Given the description of an element on the screen output the (x, y) to click on. 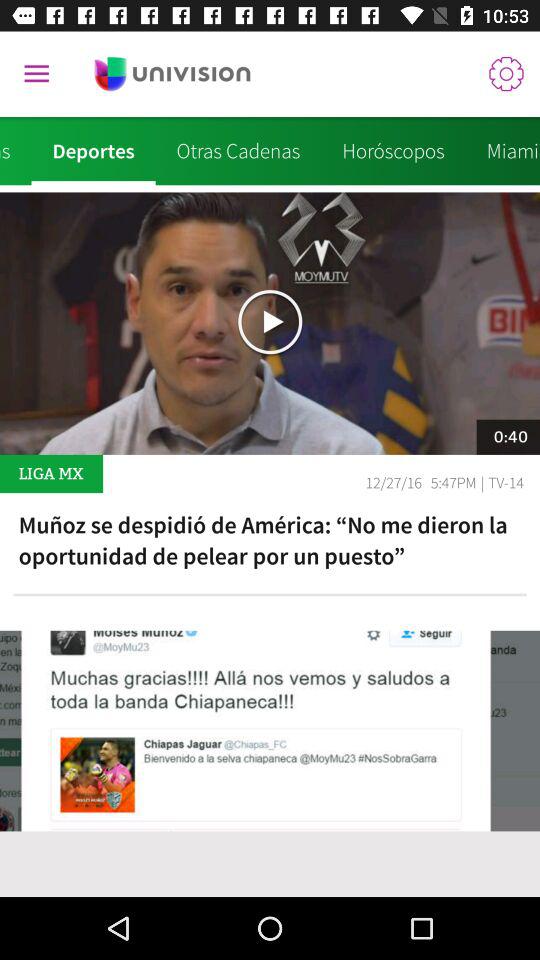
click on the setting image option to the right of univision text (506, 74)
